Given the description of an element on the screen output the (x, y) to click on. 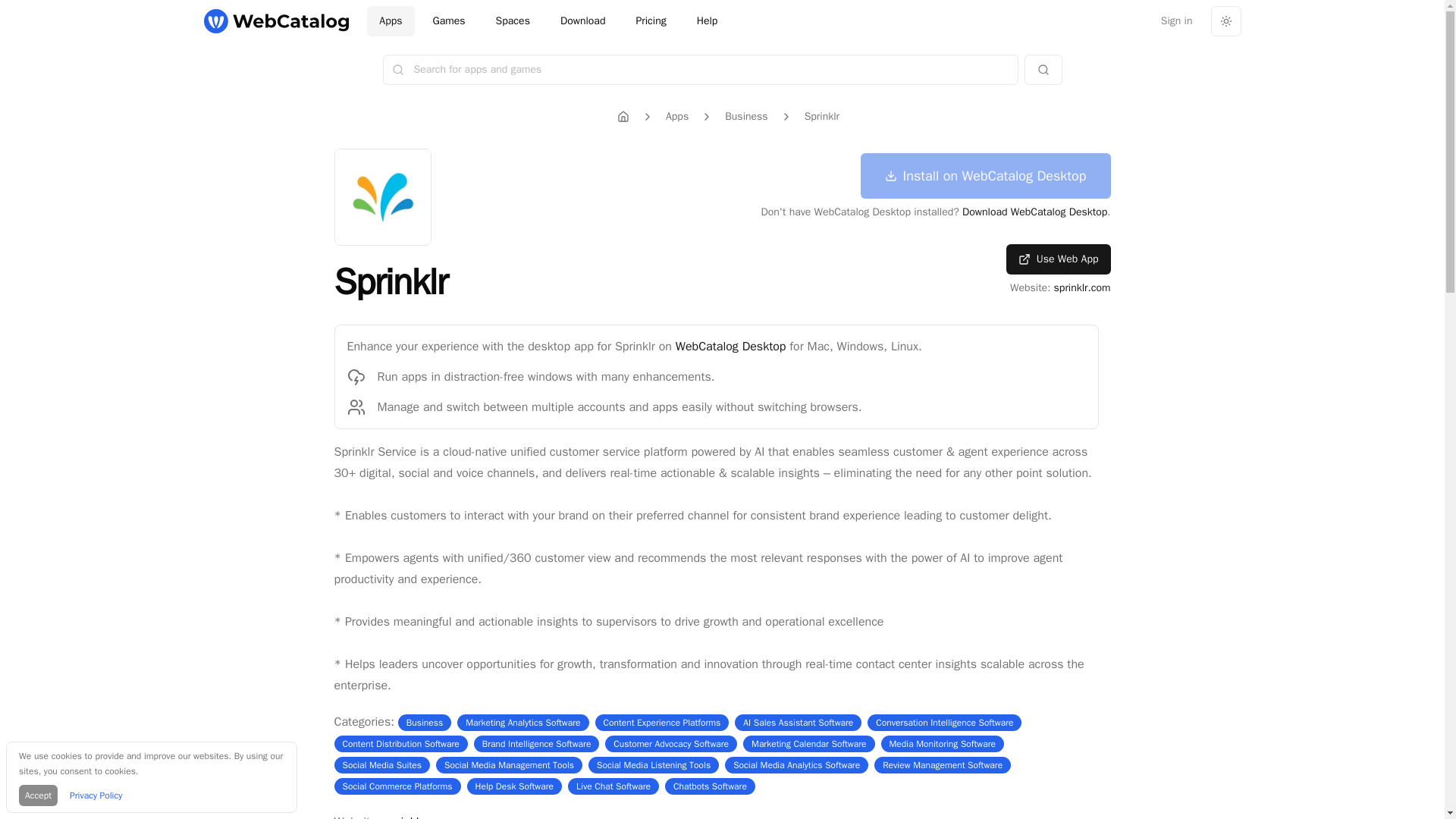
Social Media Listening Tools (653, 765)
Apps (676, 116)
Sign in (1176, 20)
Help Desk Software (513, 786)
Business (746, 116)
Content Distribution Software (401, 743)
Games (448, 20)
Search (1042, 69)
Download WebCatalog Desktop (1034, 211)
Spaces (512, 20)
Appearance (1224, 20)
Brand Intelligence Software (536, 743)
Use Web App (1058, 259)
Social Media Suites (382, 765)
Install on WebCatalog Desktop (985, 176)
